Given the description of an element on the screen output the (x, y) to click on. 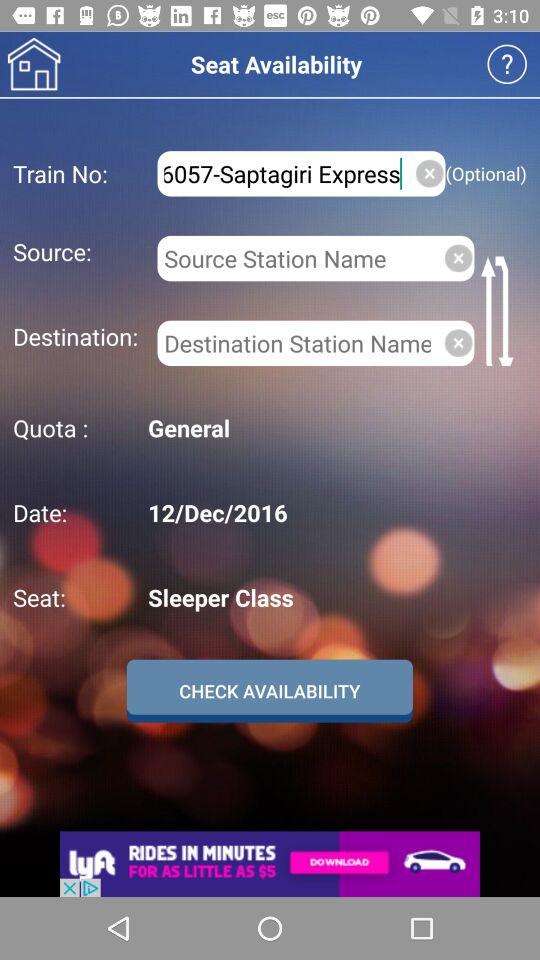
swap options (500, 310)
